Given the description of an element on the screen output the (x, y) to click on. 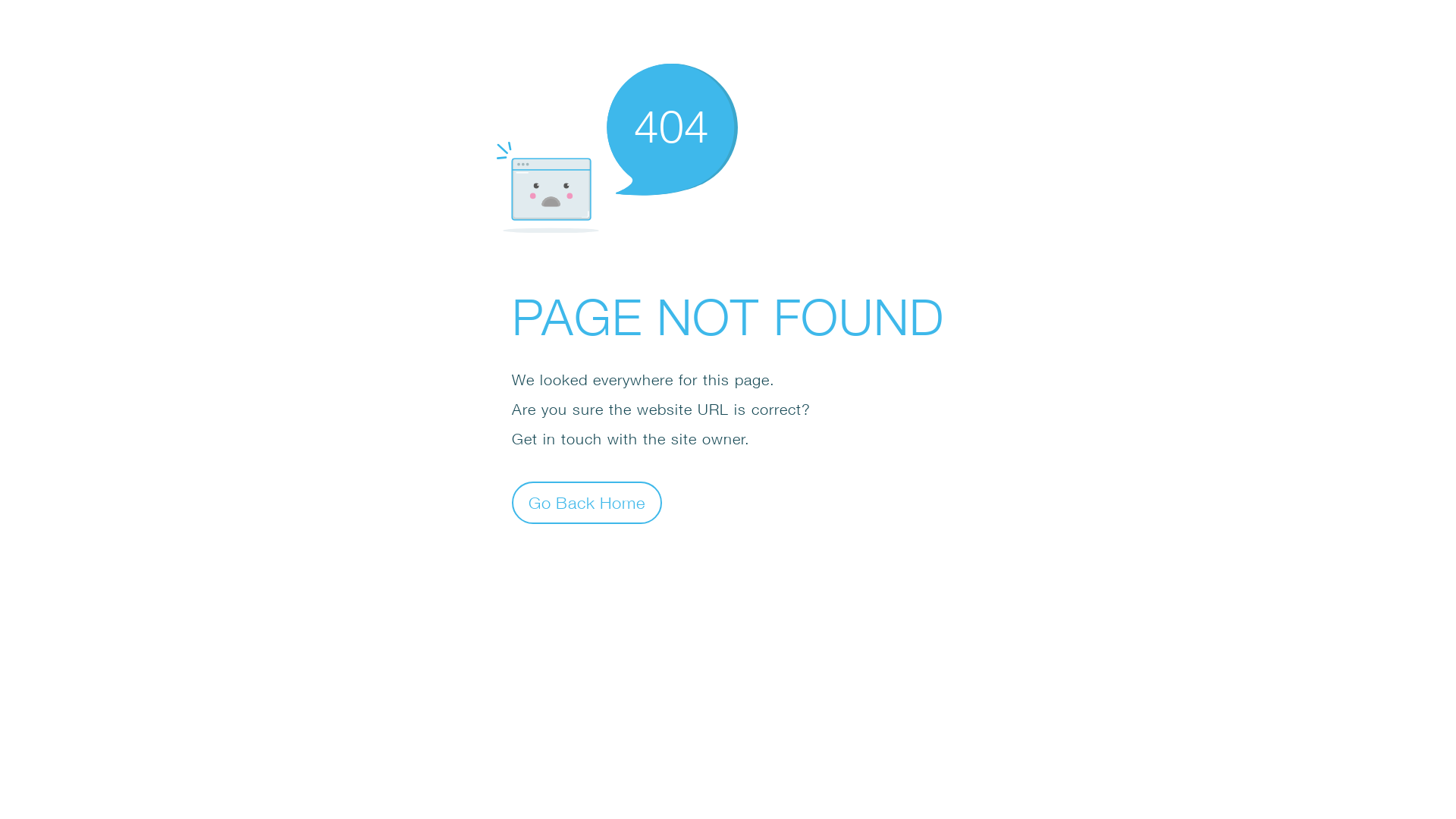
Go Back Home Element type: text (586, 502)
